Given the description of an element on the screen output the (x, y) to click on. 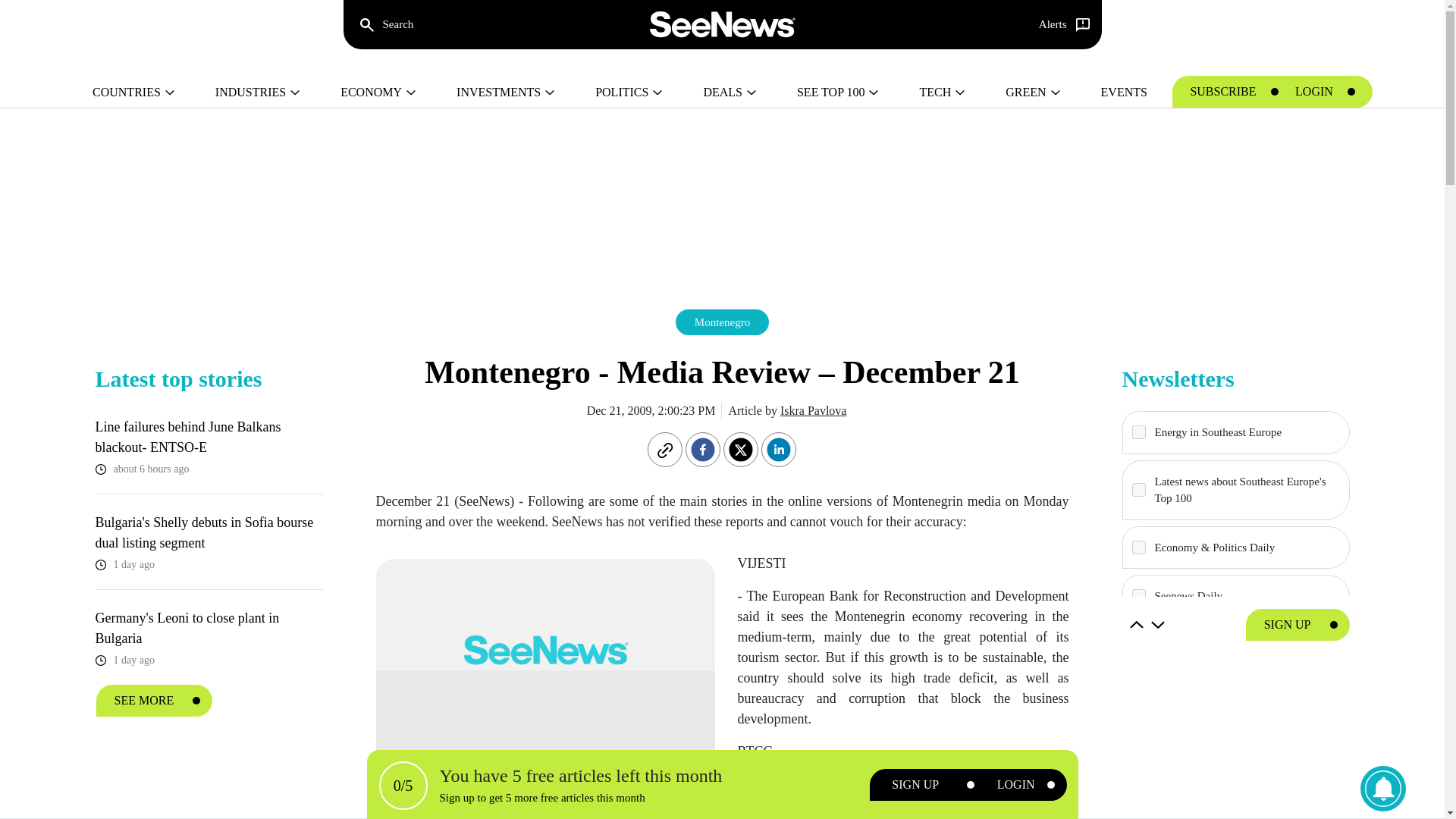
3rd party ad content (1235, 742)
on (1137, 547)
on (1137, 694)
on (1137, 489)
ECONOMY (377, 92)
on (1137, 595)
COUNTRIES (133, 92)
on (1137, 644)
INDUSTRIES (257, 92)
on (1137, 431)
